Given the description of an element on the screen output the (x, y) to click on. 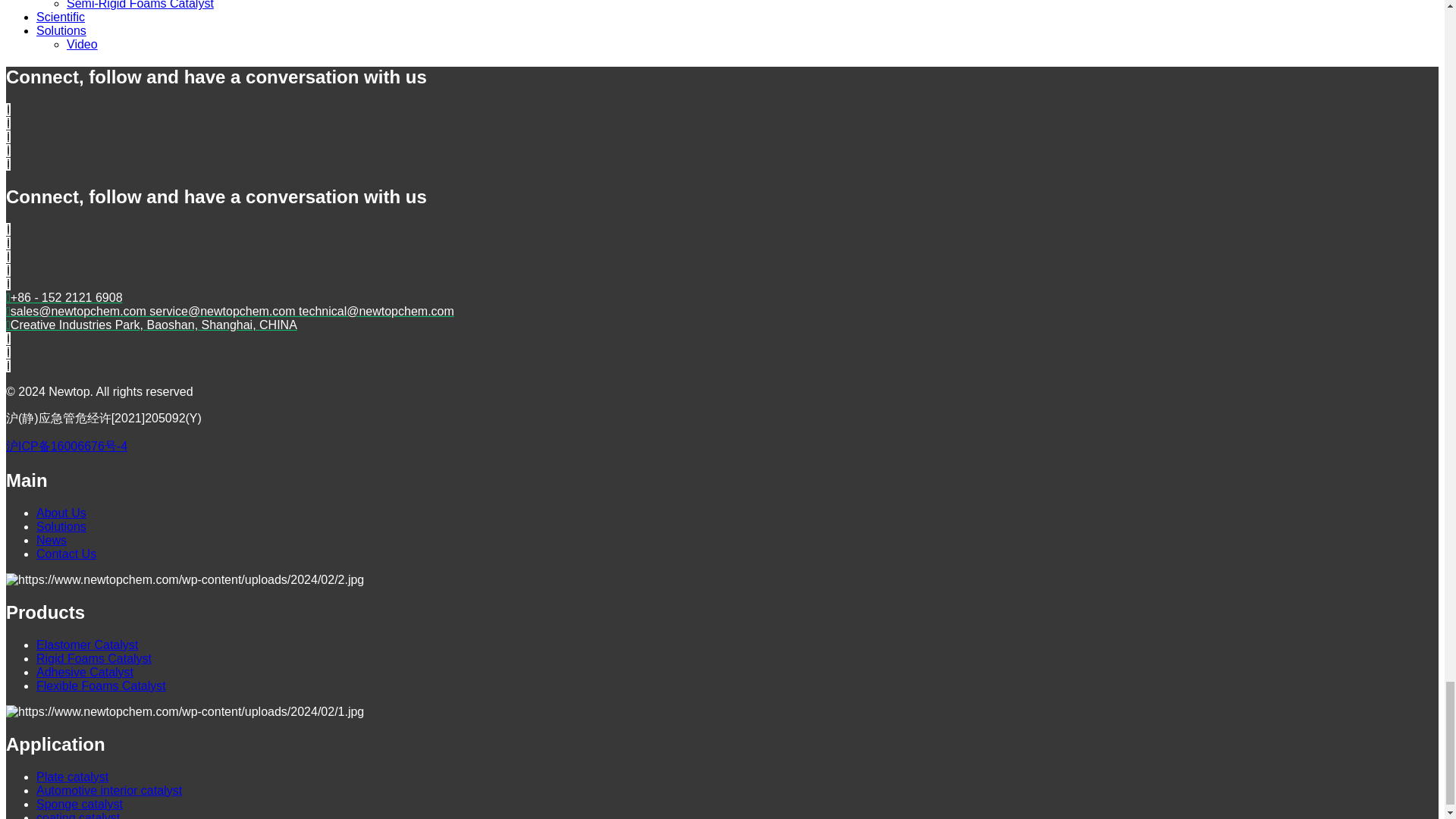
2 (184, 580)
Creative Industries Park, Baoshan, Shanghai, CHINA (151, 324)
1 (184, 712)
